Given the description of an element on the screen output the (x, y) to click on. 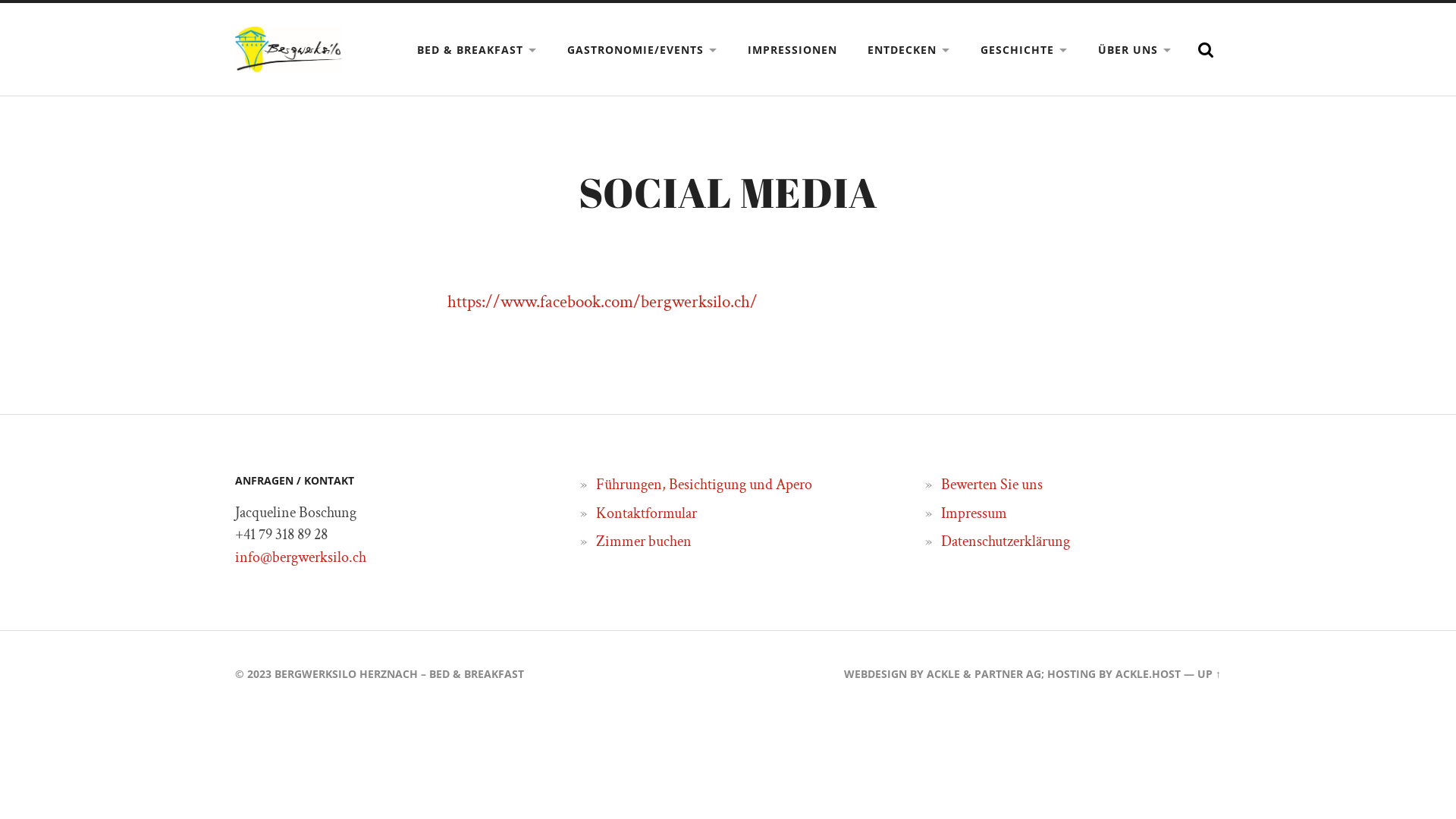
Bewerten Sie uns Element type: text (991, 484)
Impressum Element type: text (974, 513)
GESCHICHTE Element type: text (1024, 49)
IMPRESSIONEN Element type: text (792, 49)
ACKLE.HOST Element type: text (1147, 673)
https://www.facebook.com/bergwerksilo.ch/ Element type: text (602, 302)
GASTRONOMIE/EVENTS Element type: text (641, 49)
Show the search field Element type: hover (1205, 49)
Kontaktformular Element type: text (646, 513)
ENTDECKEN Element type: text (908, 49)
info@bergwerksilo.ch Element type: text (300, 557)
BED & BREAKFAST Element type: text (476, 49)
Zimmer buchen Element type: text (643, 541)
ACKLE & PARTNER AG Element type: text (983, 673)
